Given the description of an element on the screen output the (x, y) to click on. 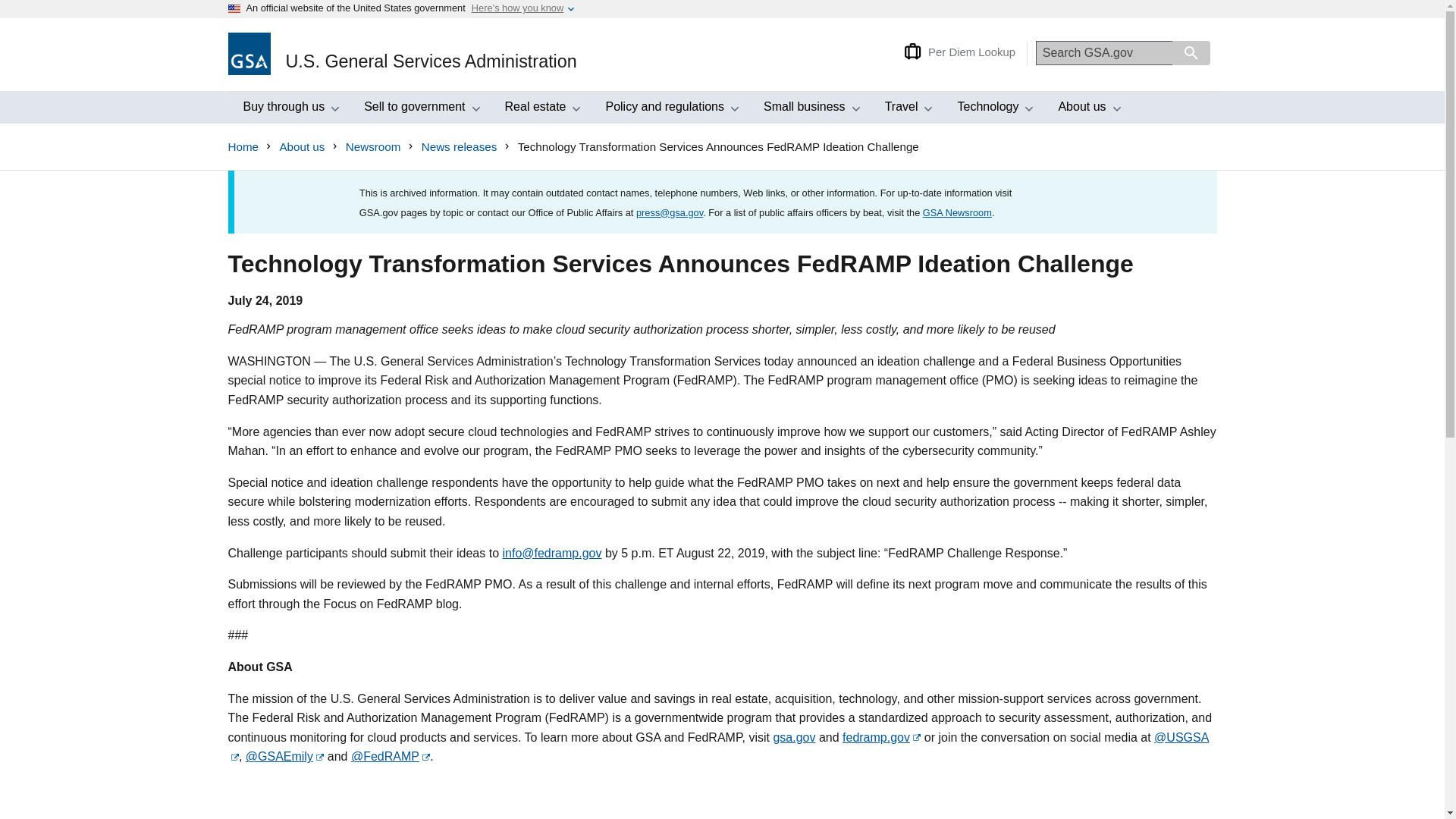
U.S. General Services Administration (401, 54)
Skip to main content (288, 107)
